Given the description of an element on the screen output the (x, y) to click on. 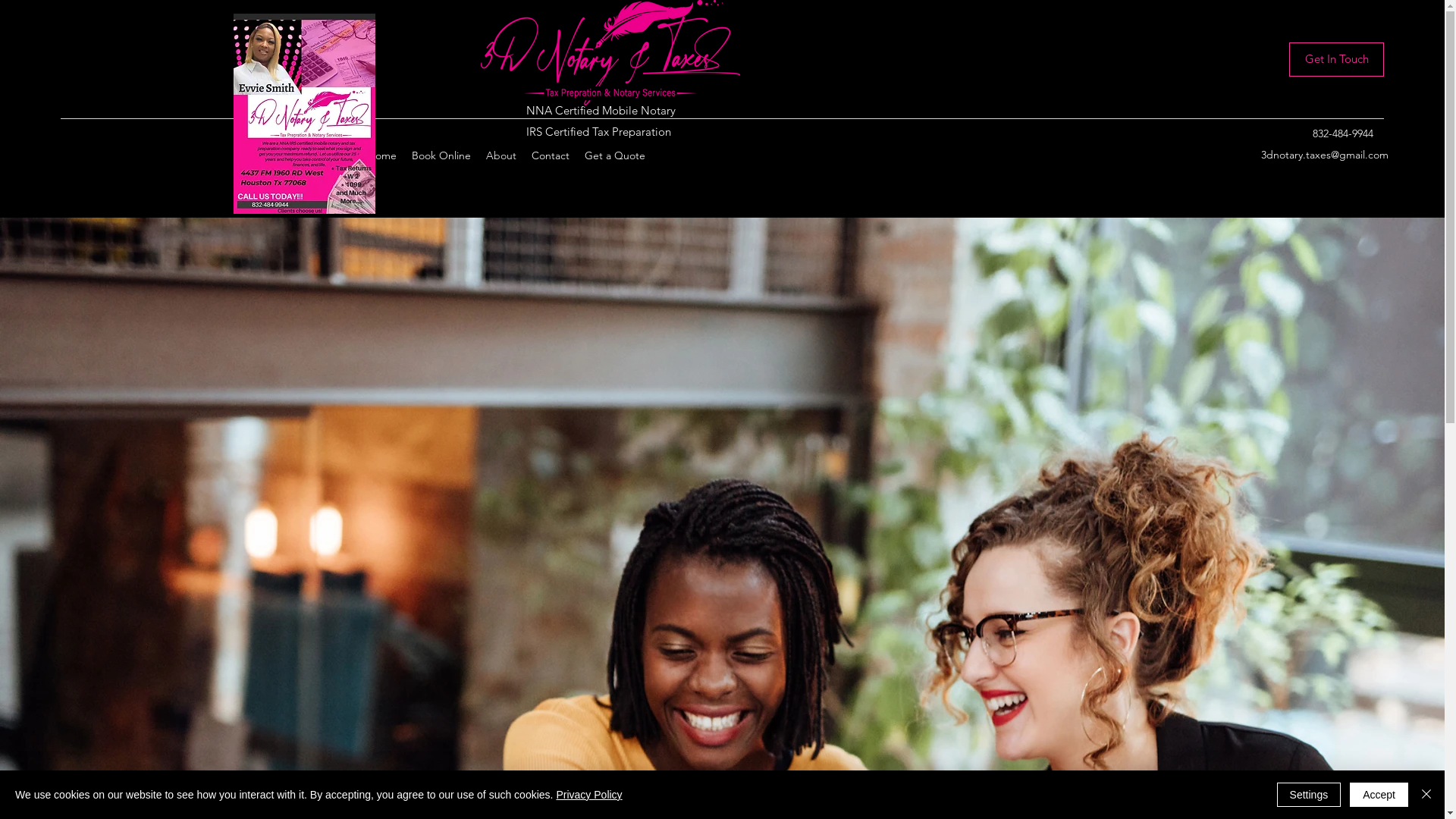
About Element type: text (501, 155)
Settings Element type: text (1309, 794)
3dnotary.taxes@gmail.com Element type: text (1324, 154)
Book Online Element type: text (441, 155)
Contact Element type: text (550, 155)
Privacy Policy Element type: text (588, 794)
Home Element type: text (382, 155)
Embedded Content Element type: hover (945, 104)
Accept Element type: text (1378, 794)
Get In Touch Element type: text (1336, 59)
Get a Quote Element type: text (614, 155)
